Given the description of an element on the screen output the (x, y) to click on. 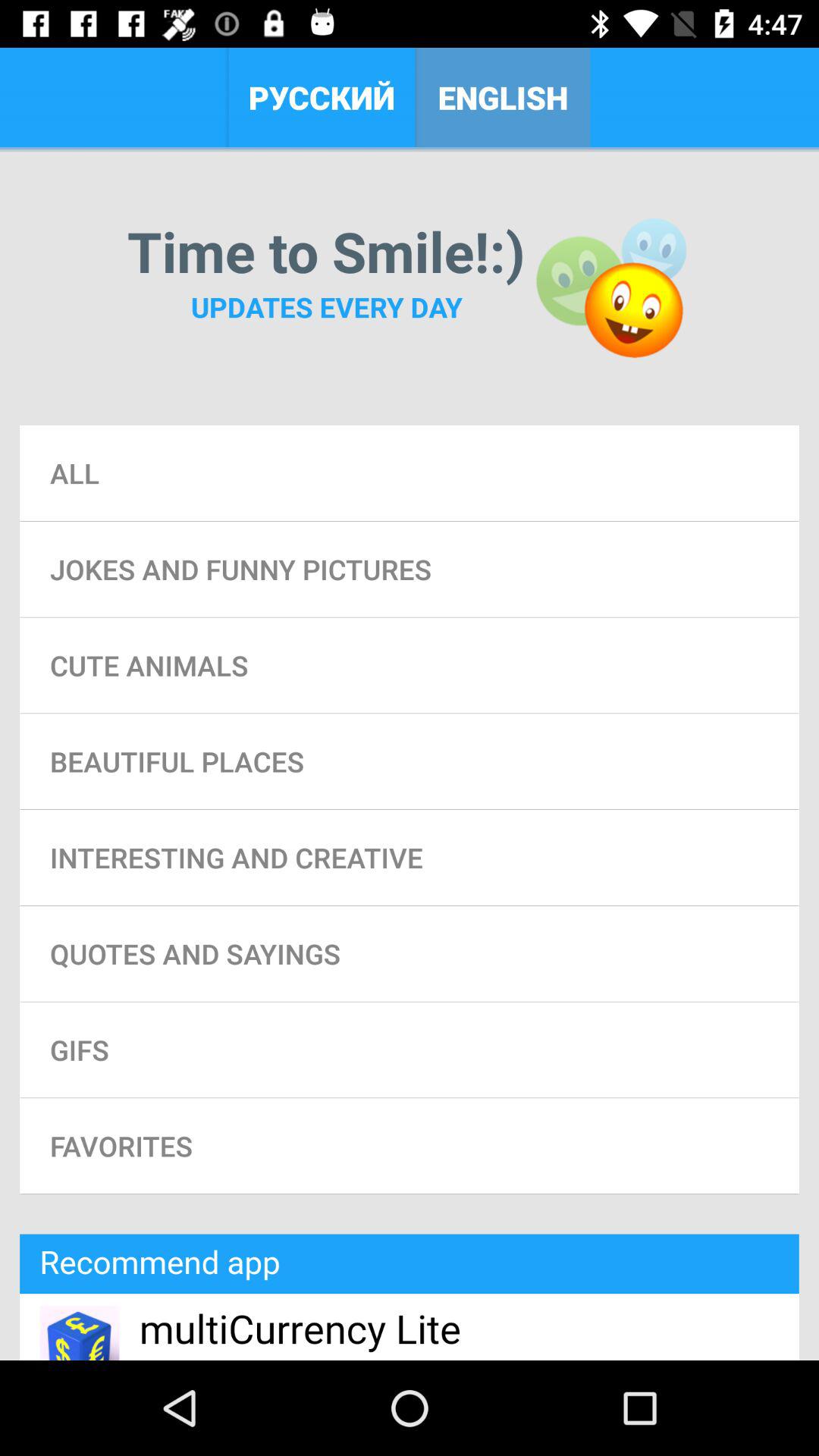
press gifs icon (409, 1049)
